Given the description of an element on the screen output the (x, y) to click on. 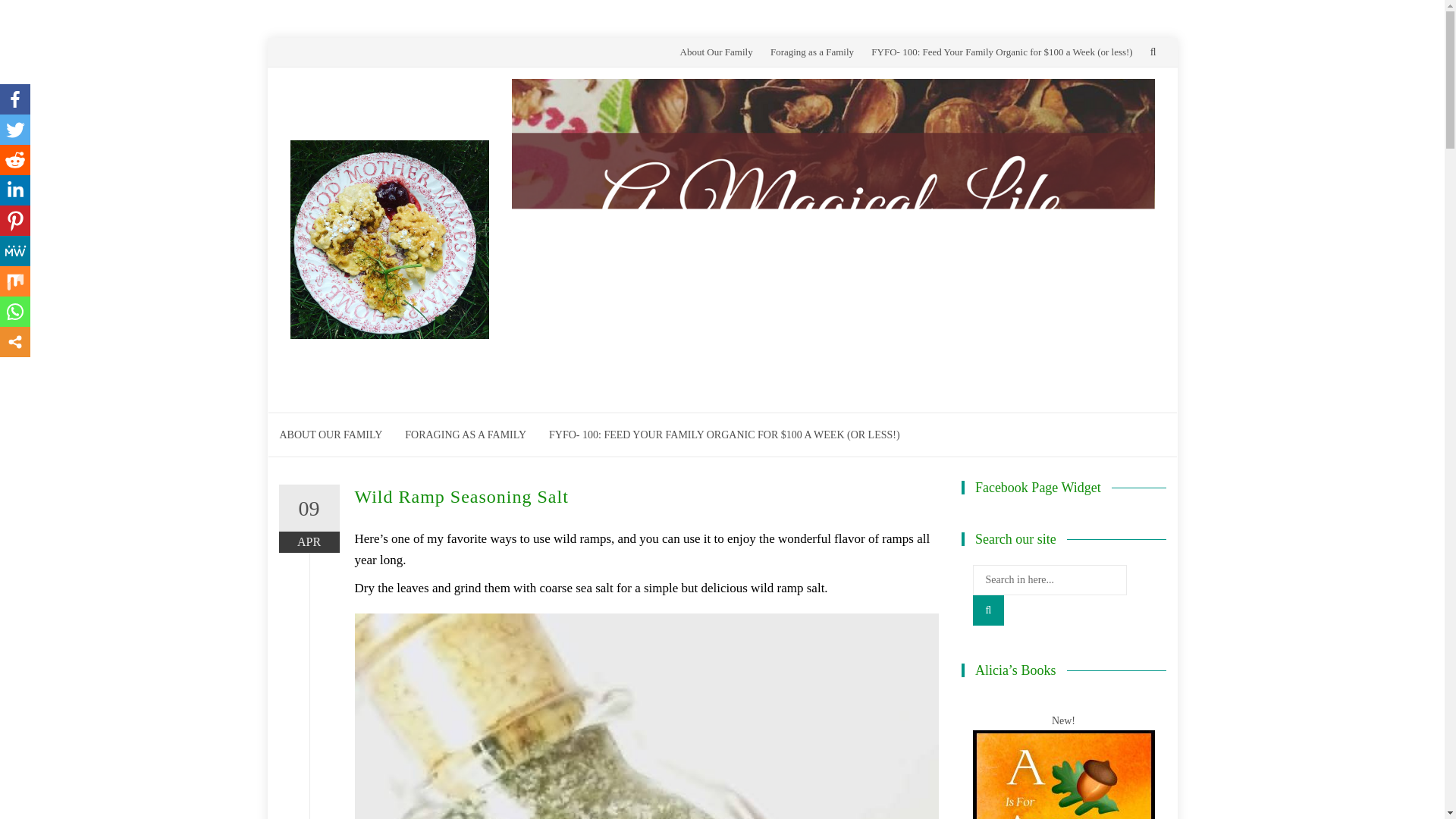
ABOUT OUR FAMILY (330, 434)
About Our Family (715, 51)
FORAGING AS A FAMILY (465, 434)
Foraging as a Family (811, 51)
